Given the description of an element on the screen output the (x, y) to click on. 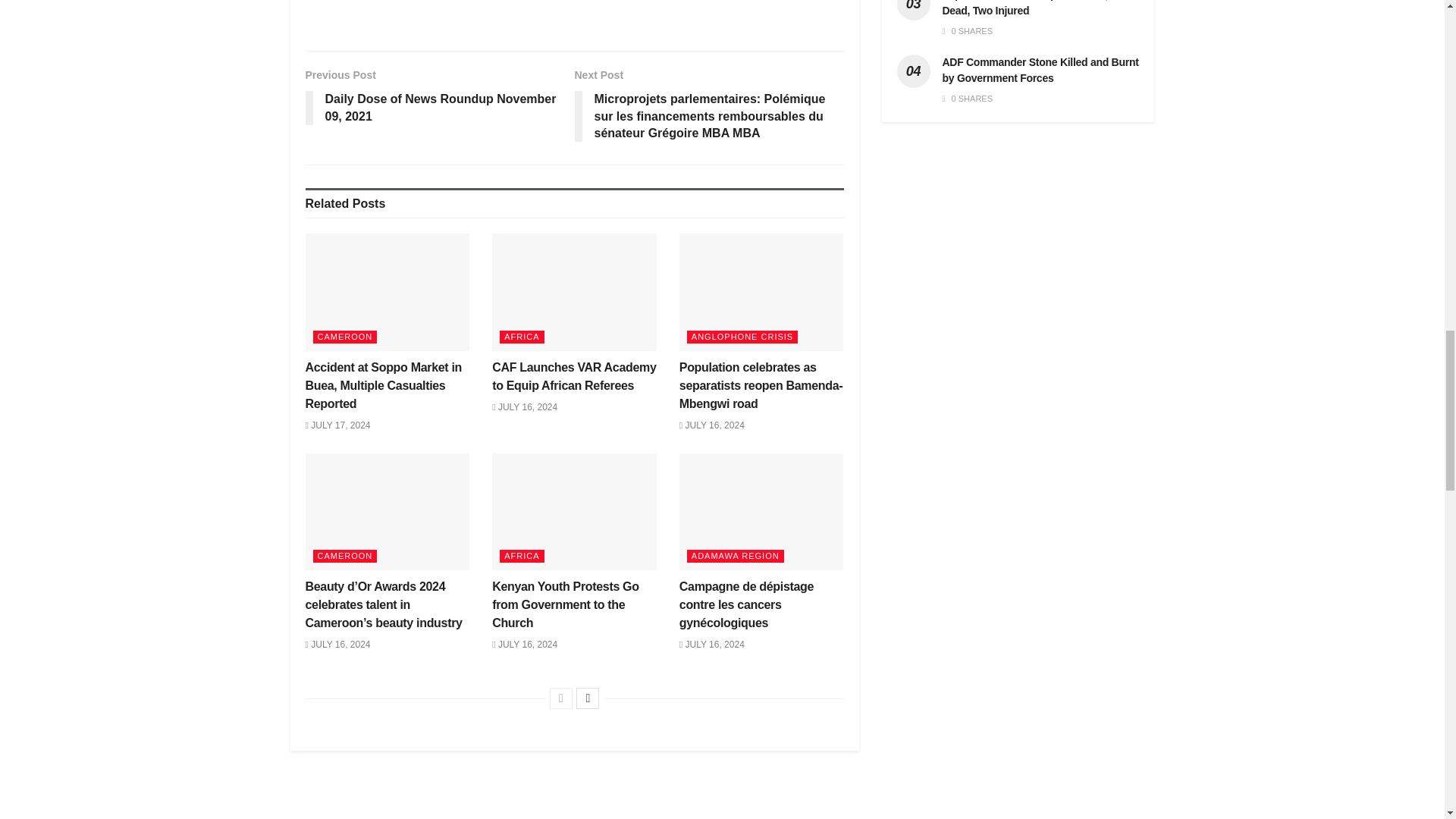
Previous (561, 698)
Next (587, 698)
